Given the description of an element on the screen output the (x, y) to click on. 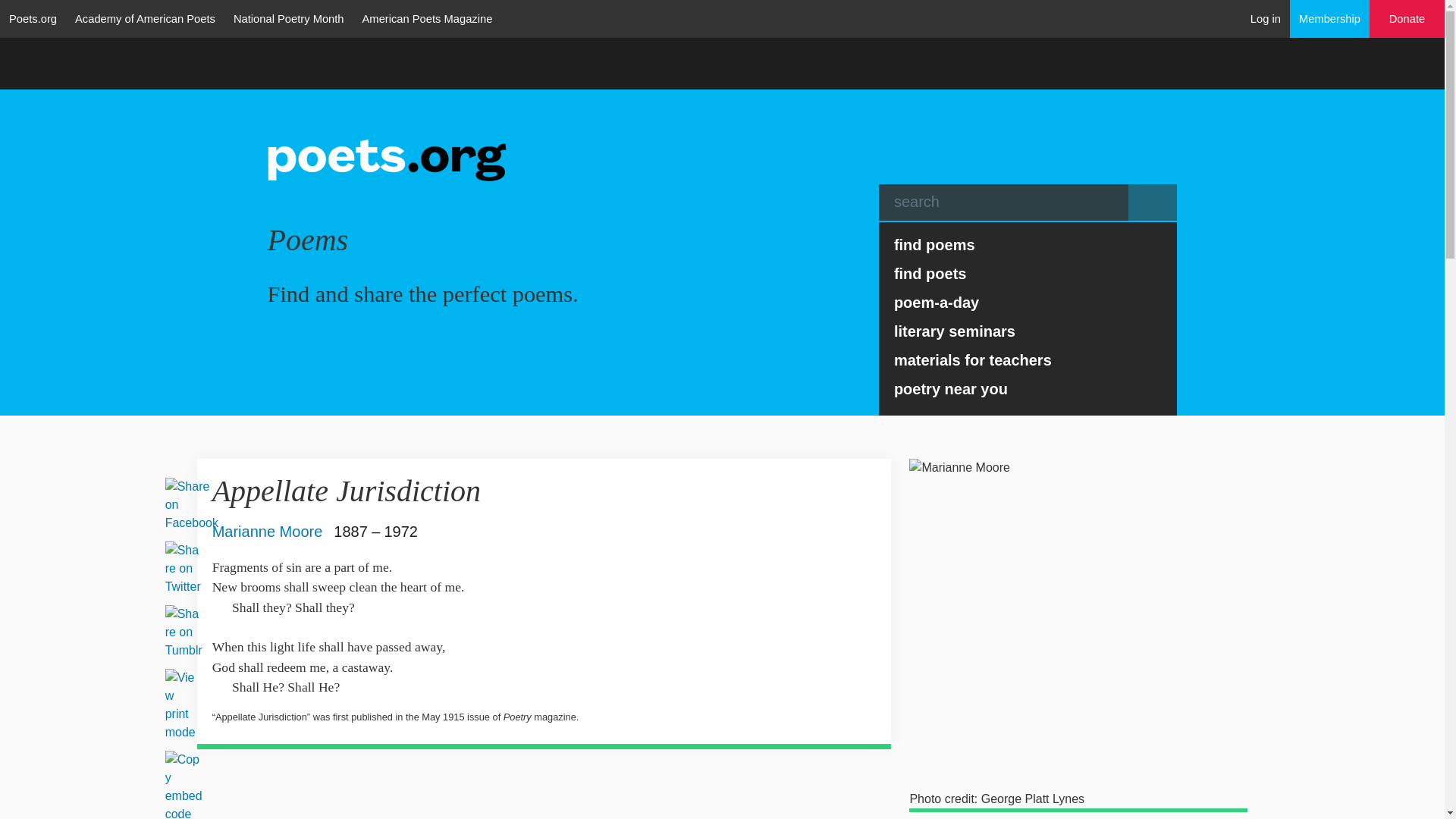
American Poets Magazine (427, 18)
Share on Tumblr (183, 631)
See print mode in new window (180, 704)
Support the mission of the Academy of American Poets (1407, 18)
Log in (1265, 18)
poem-a-day (1028, 302)
Submit (1152, 201)
Open embed mode in a new window (183, 786)
National Poetry Month (288, 18)
Academy of American Poets (144, 18)
